Given the description of an element on the screen output the (x, y) to click on. 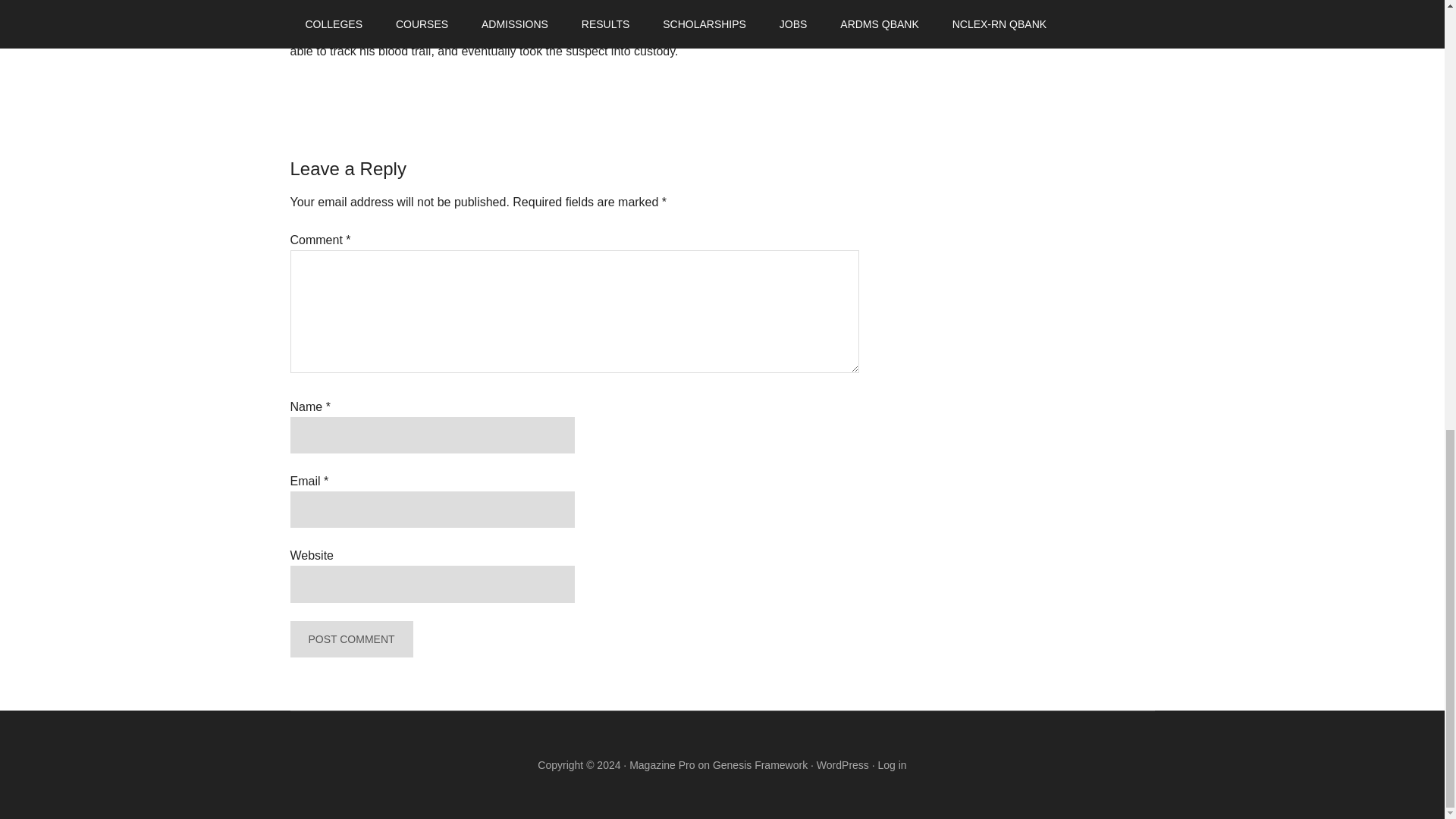
Post Comment (350, 638)
Magazine Pro (661, 765)
WordPress (842, 765)
Genesis Framework (760, 765)
Post Comment (350, 638)
